Given the description of an element on the screen output the (x, y) to click on. 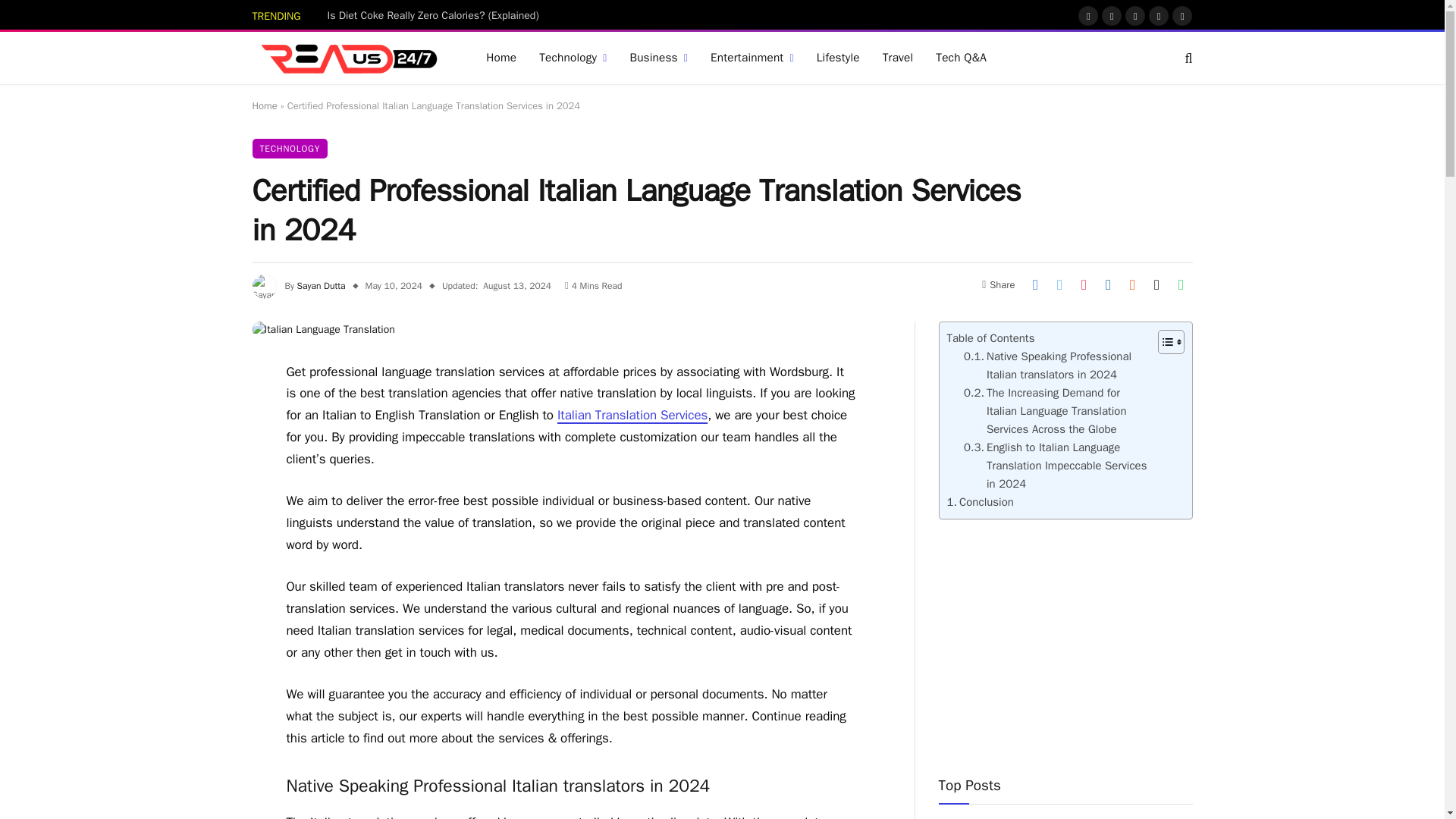
Pinterest (1158, 15)
LinkedIn (1182, 15)
Instagram (1134, 15)
Home (500, 57)
Business (657, 57)
Technology (572, 57)
Facebook (1087, 15)
